Given the description of an element on the screen output the (x, y) to click on. 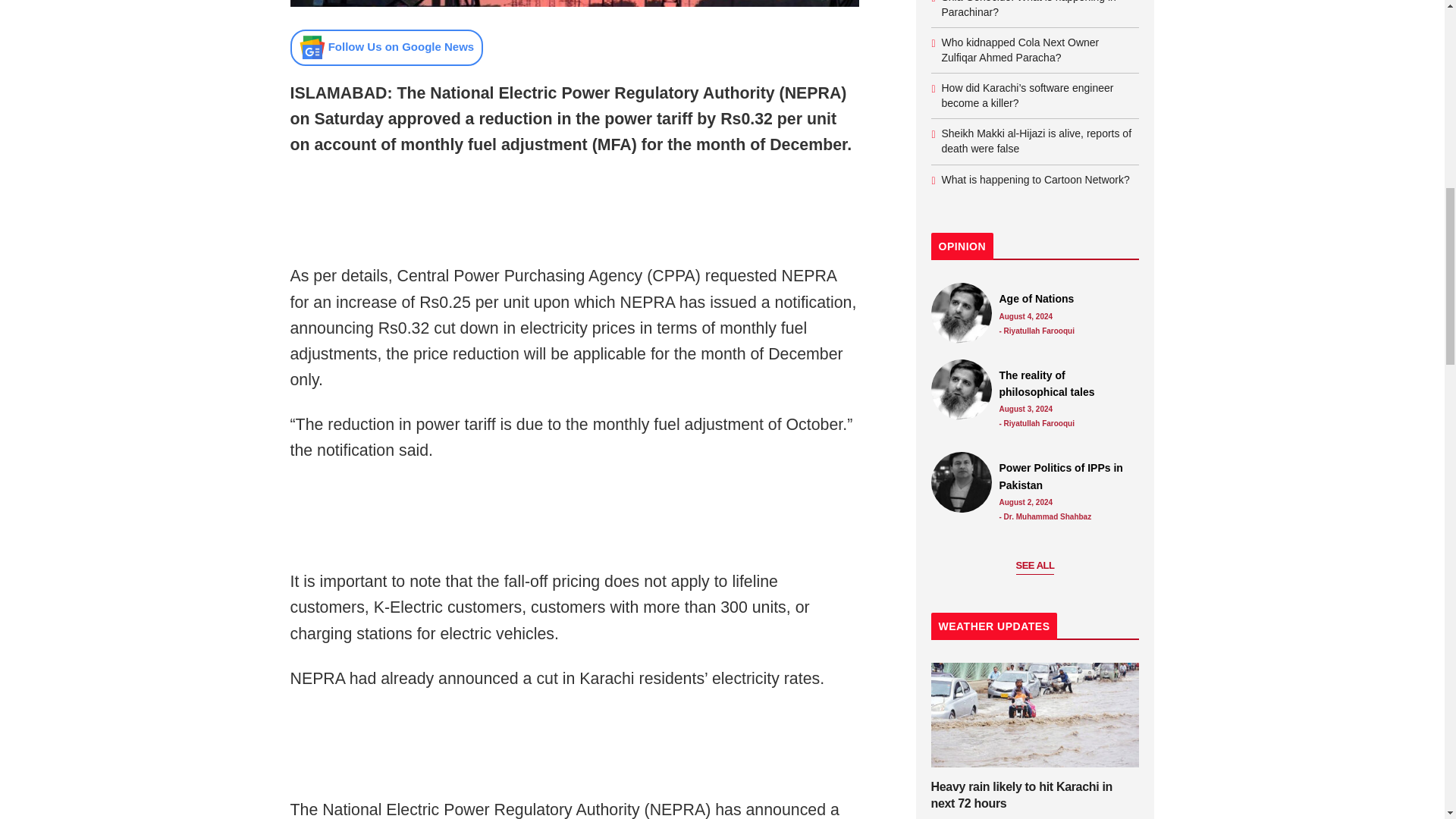
The reality of philosophical tales (1065, 383)
Age of Nations (1065, 298)
Power Politics of IPPs in Pakistan (1065, 476)
Age of Nations (961, 312)
Power Politics of IPPs in Pakistan (961, 482)
The reality of philosophical tales (961, 389)
